Given the description of an element on the screen output the (x, y) to click on. 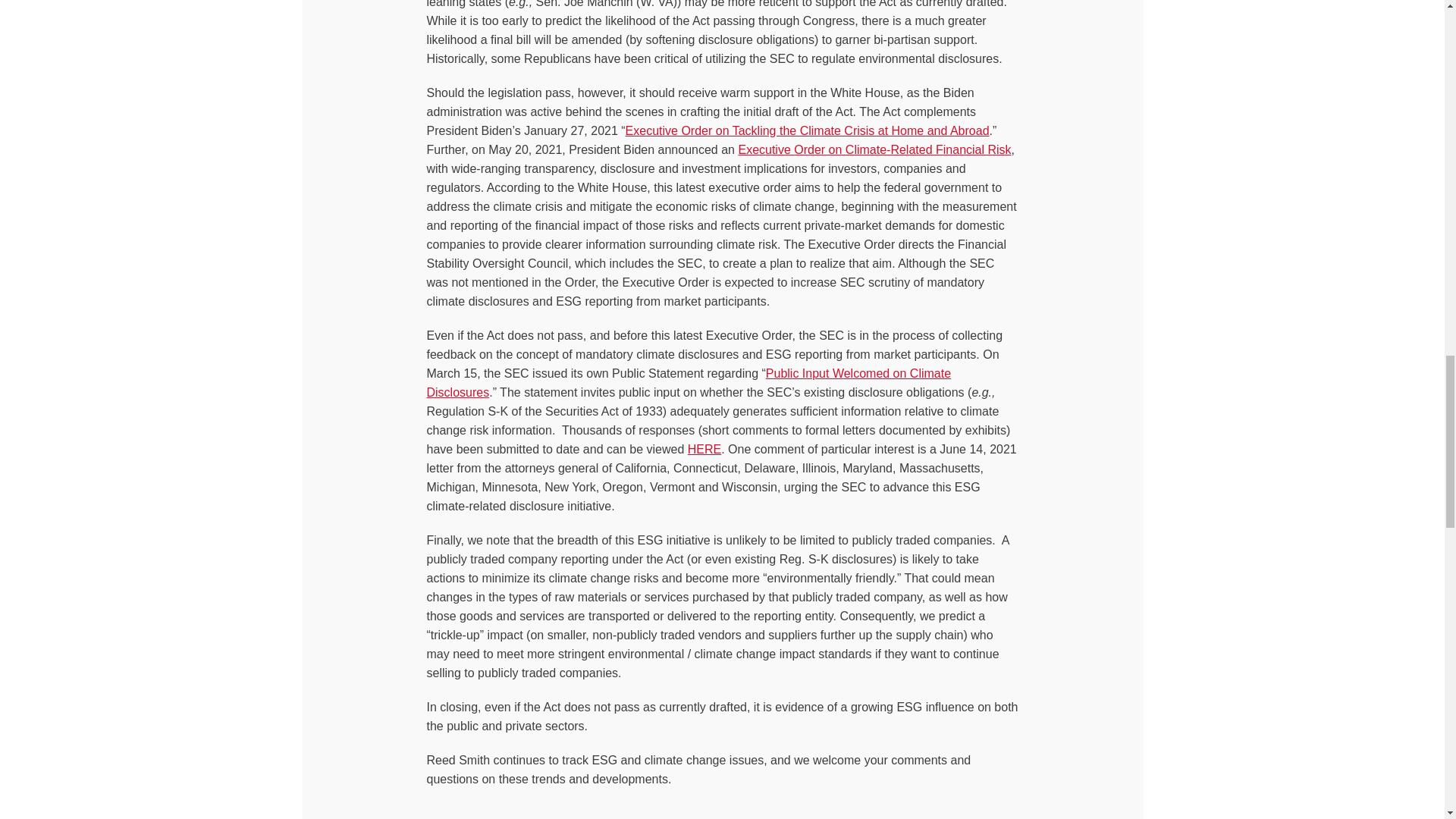
Public Input Welcomed on Climate Disclosures (688, 382)
HERE (703, 449)
Executive Order on Climate-Related Financial Risk (874, 149)
